Given the description of an element on the screen output the (x, y) to click on. 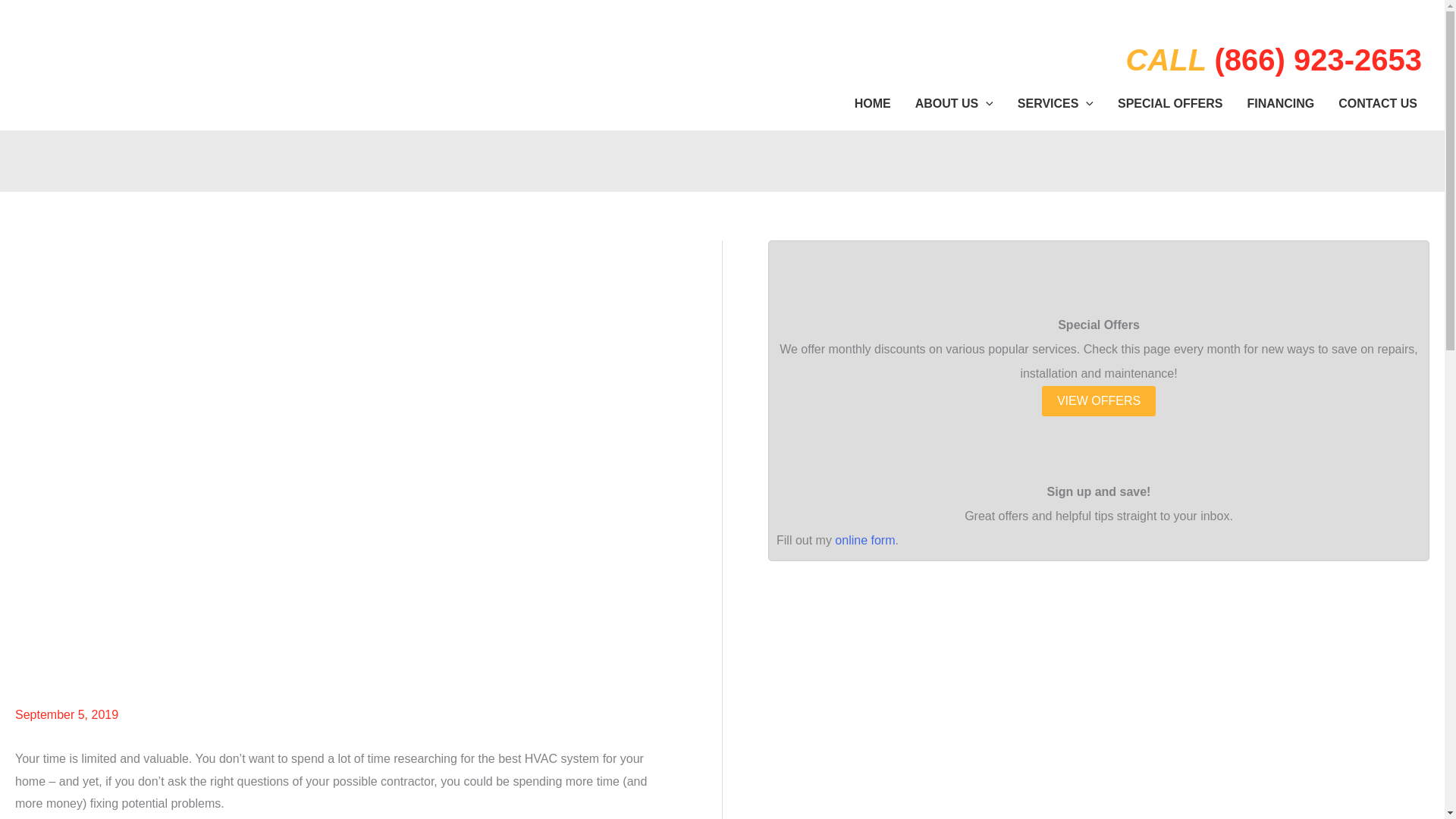
FINANCING (1280, 103)
HOME (872, 103)
CONTACT US (1377, 103)
SERVICES (1055, 103)
SPECIAL OFFERS (1169, 103)
ABOUT US (954, 103)
